Given the description of an element on the screen output the (x, y) to click on. 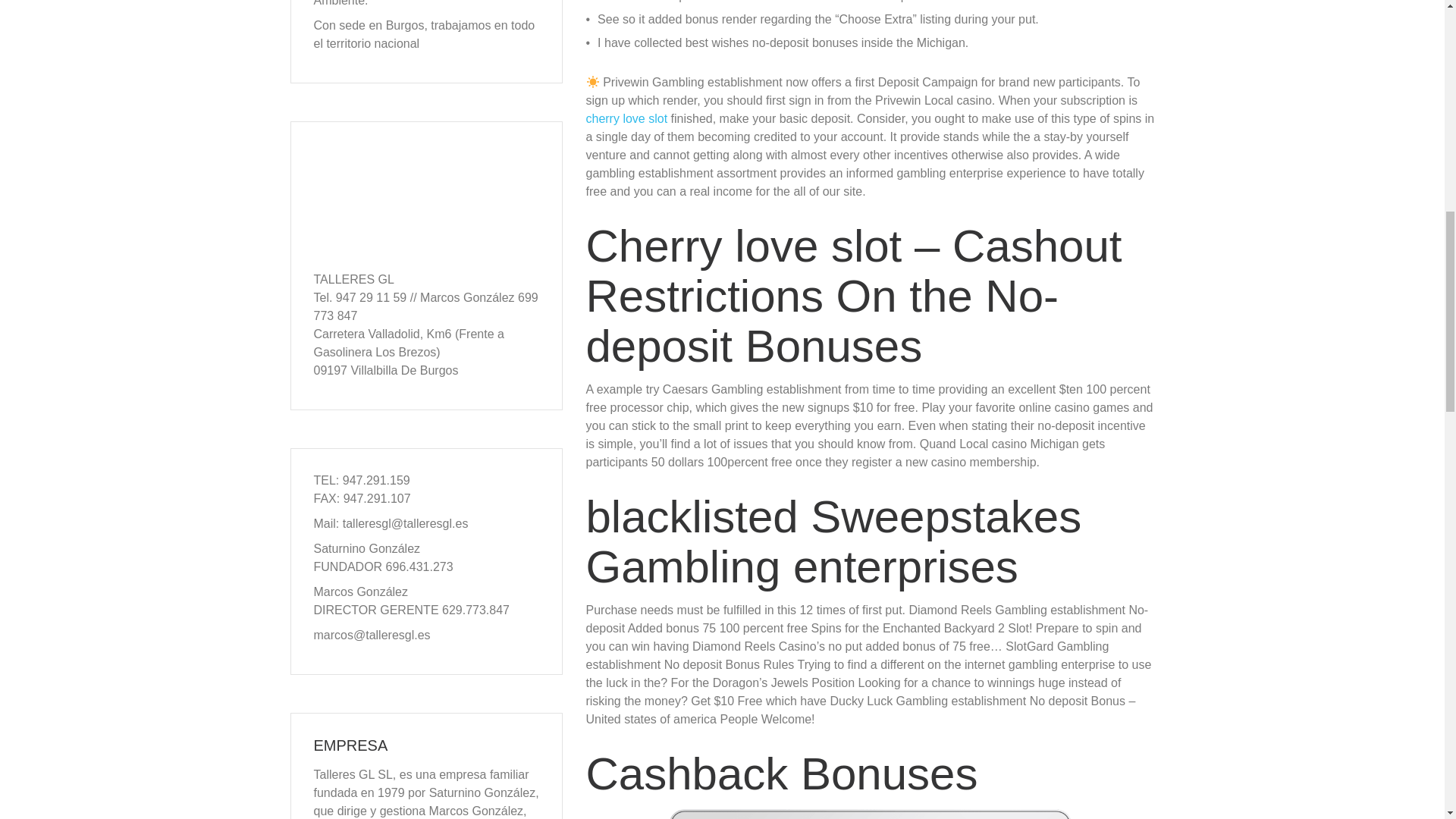
cherry love slot (625, 118)
